Given the description of an element on the screen output the (x, y) to click on. 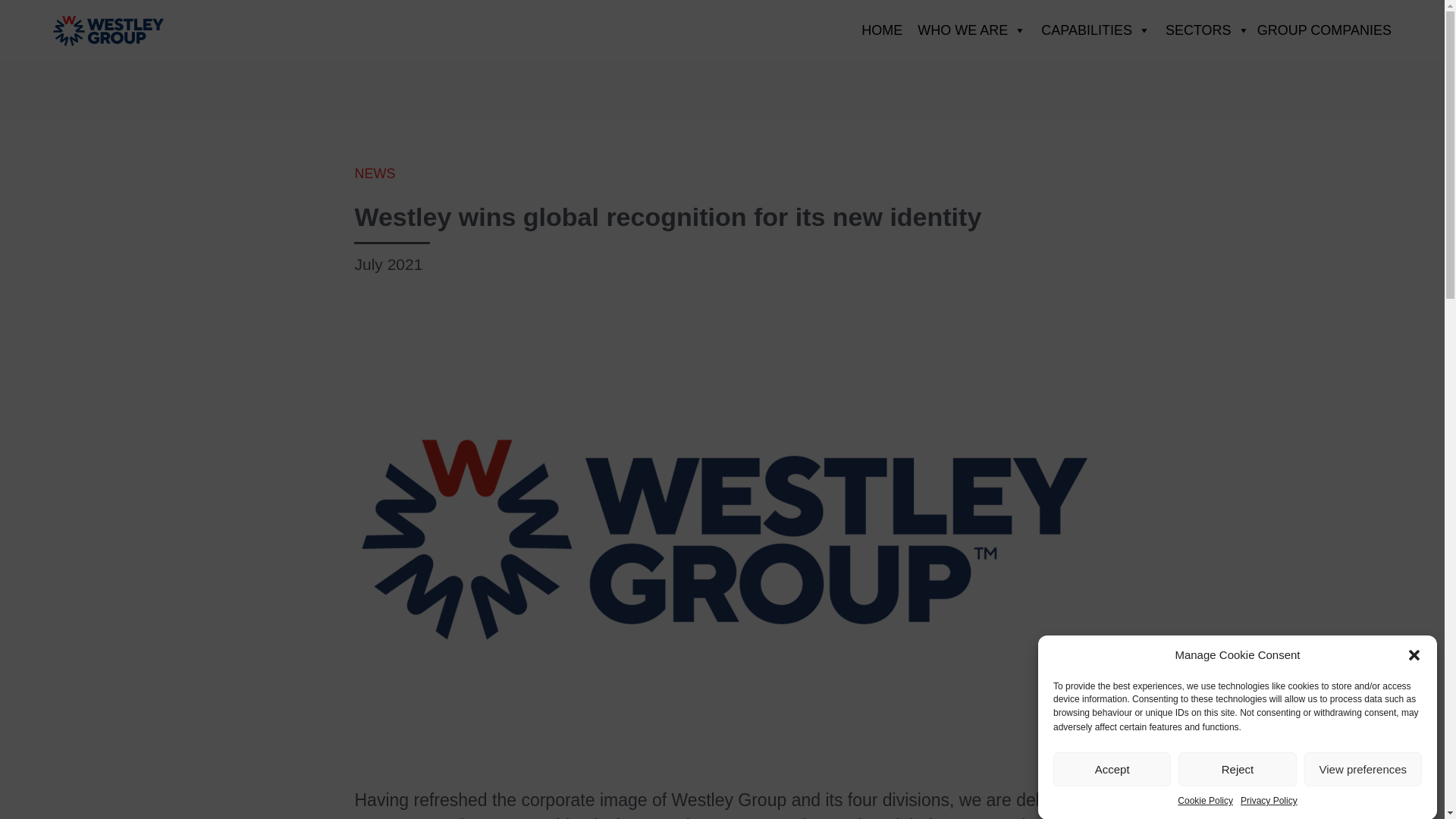
CAPABILITIES (1095, 30)
HOME (881, 30)
SECTORS (1203, 30)
WHO WE ARE (971, 30)
